Given the description of an element on the screen output the (x, y) to click on. 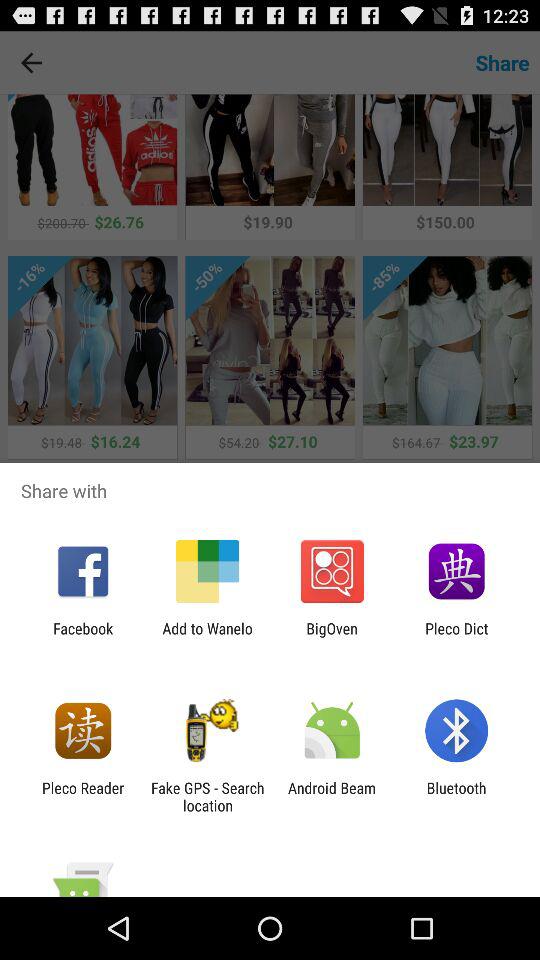
select app to the right of pleco reader item (207, 796)
